Given the description of an element on the screen output the (x, y) to click on. 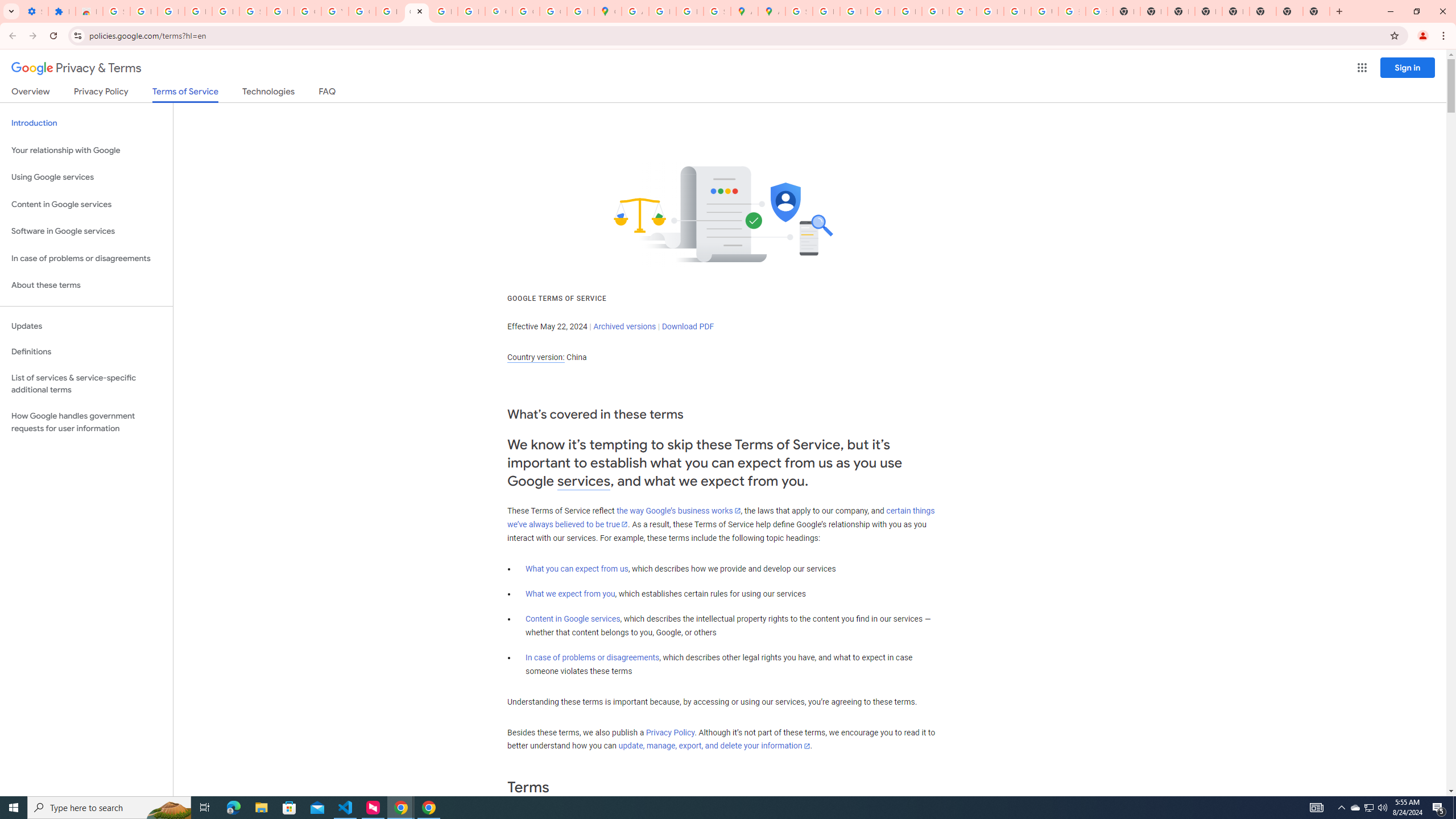
Delete photos & videos - Computer - Google Photos Help (170, 11)
New Tab (1316, 11)
YouTube (334, 11)
In case of problems or disagreements (592, 657)
